Given the description of an element on the screen output the (x, y) to click on. 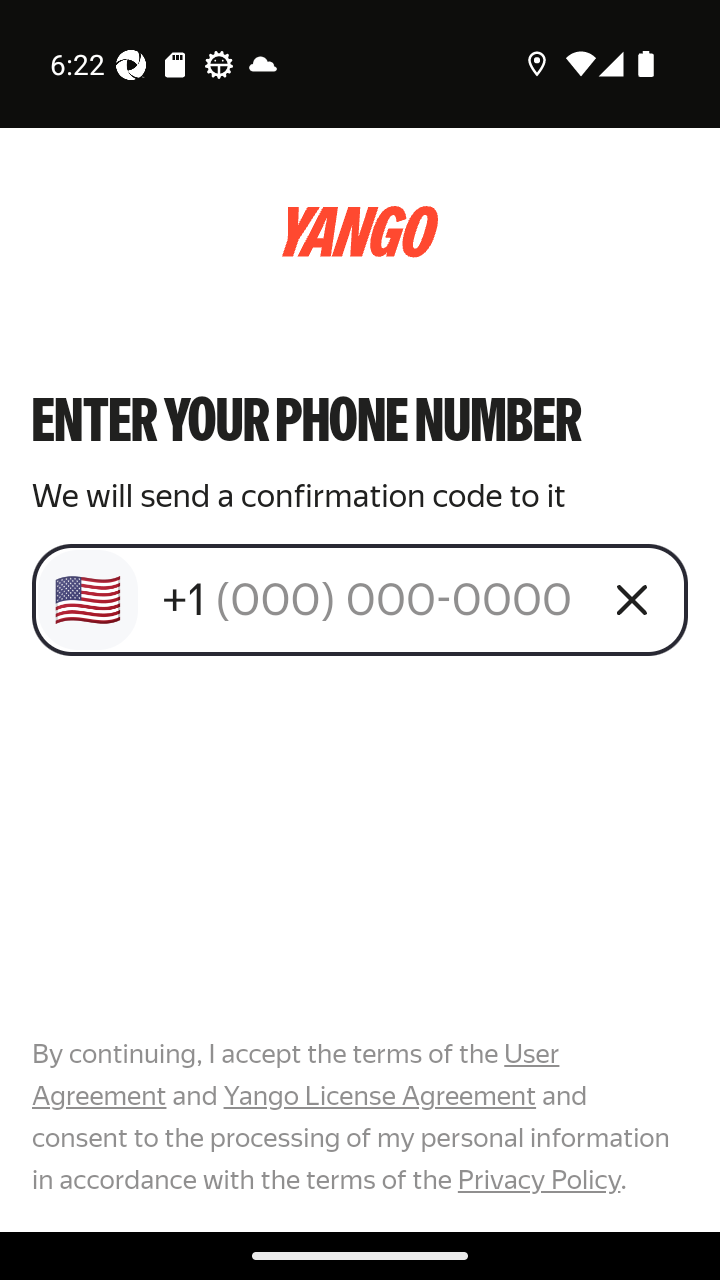
logo (359, 231)
🇺🇸 (88, 600)
+1 (372, 599)
User Agreement (295, 1075)
Yango License Agreement (379, 1096)
Privacy Policy (538, 1179)
